Given the description of an element on the screen output the (x, y) to click on. 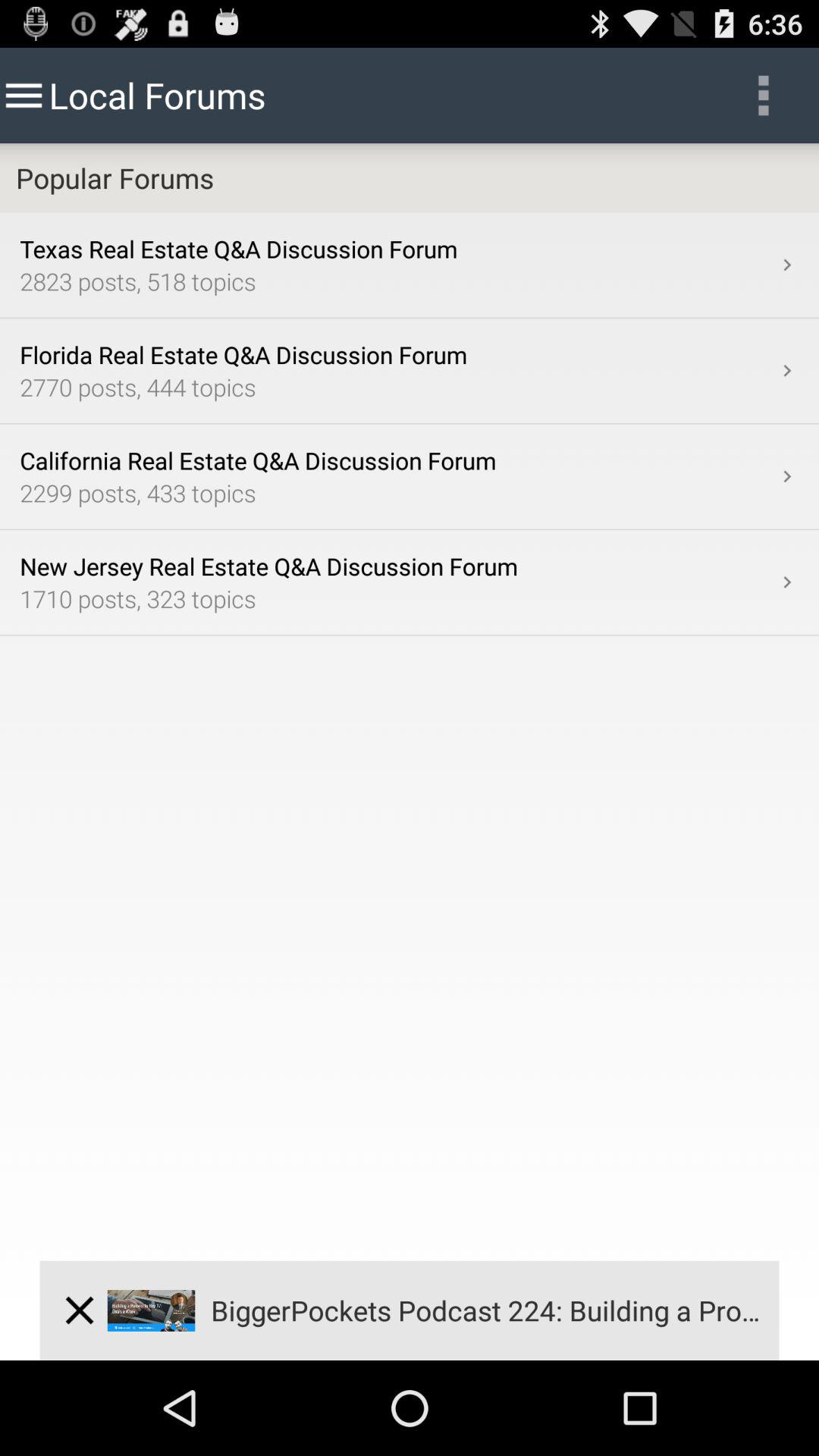
turn off icon below the texas real estate app (397, 281)
